Given the description of an element on the screen output the (x, y) to click on. 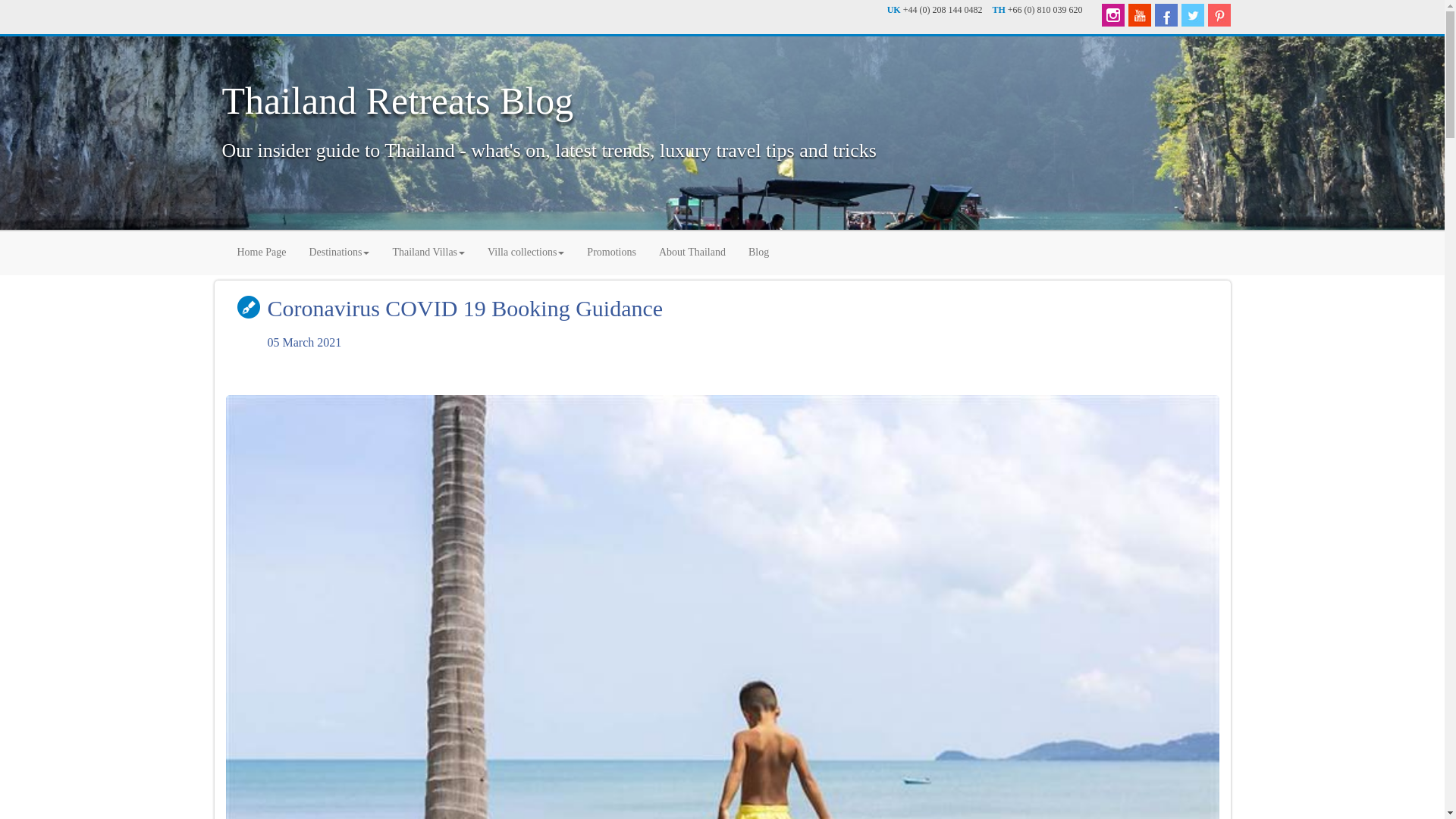
Home Page (261, 250)
Thailand Villas (428, 250)
Blog (758, 250)
Promotions (611, 250)
Destinations (338, 250)
Villa collections (525, 250)
About Thailand (691, 250)
